Given the description of an element on the screen output the (x, y) to click on. 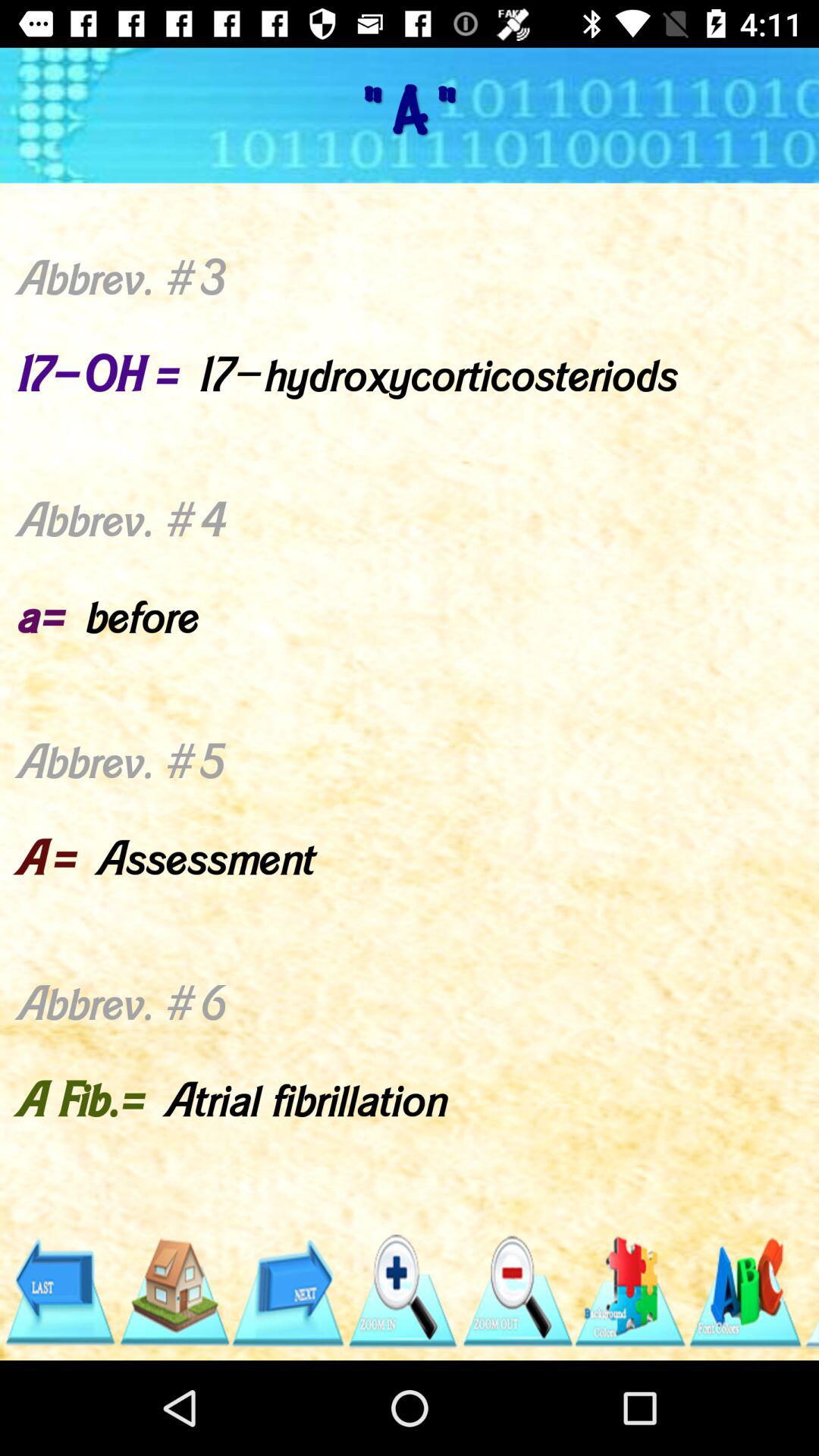
choose the item below abbrev 	1	 	 item (745, 1291)
